Given the description of an element on the screen output the (x, y) to click on. 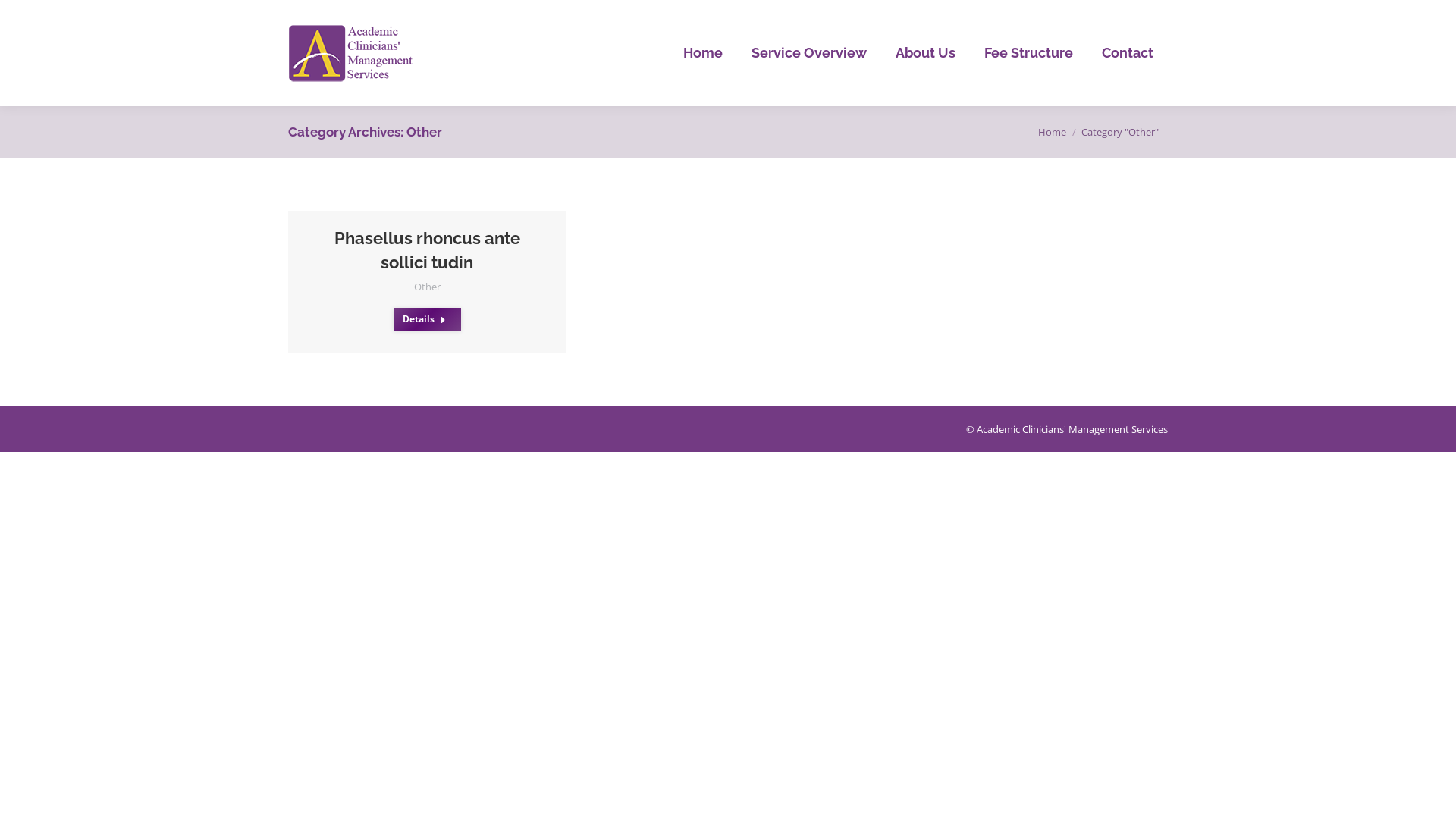
Contact Element type: text (1127, 53)
Phasellus rhoncus ante sollici tudin Element type: text (427, 250)
Other Element type: text (427, 286)
About Us Element type: text (925, 53)
Home Element type: text (702, 53)
Home Element type: text (1052, 131)
Details Element type: text (427, 318)
Service Overview Element type: text (809, 53)
Fee Structure Element type: text (1028, 53)
